Given the description of an element on the screen output the (x, y) to click on. 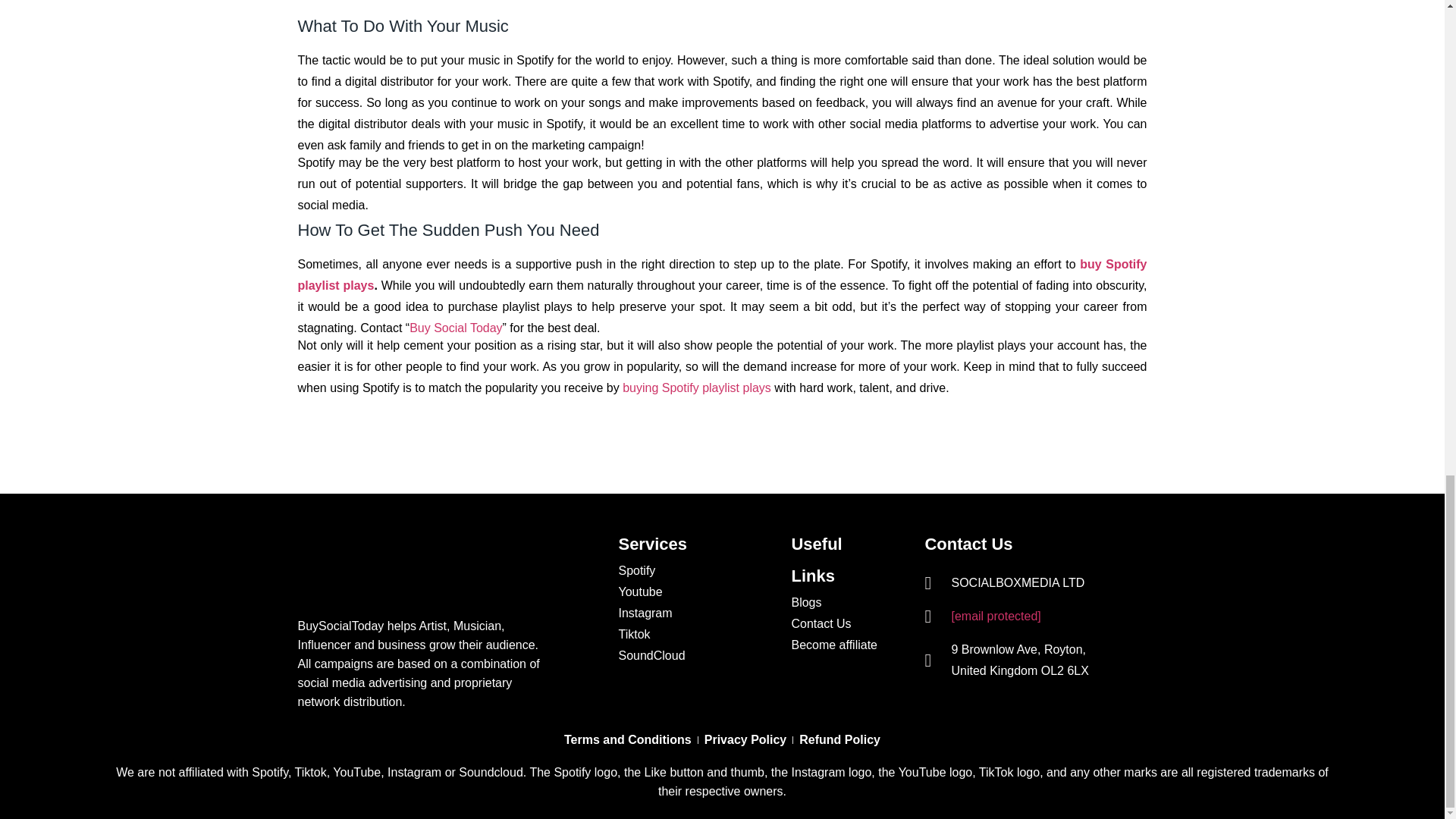
Buy Social Today (455, 327)
buy Spotify playlist plays (722, 274)
